Given the description of an element on the screen output the (x, y) to click on. 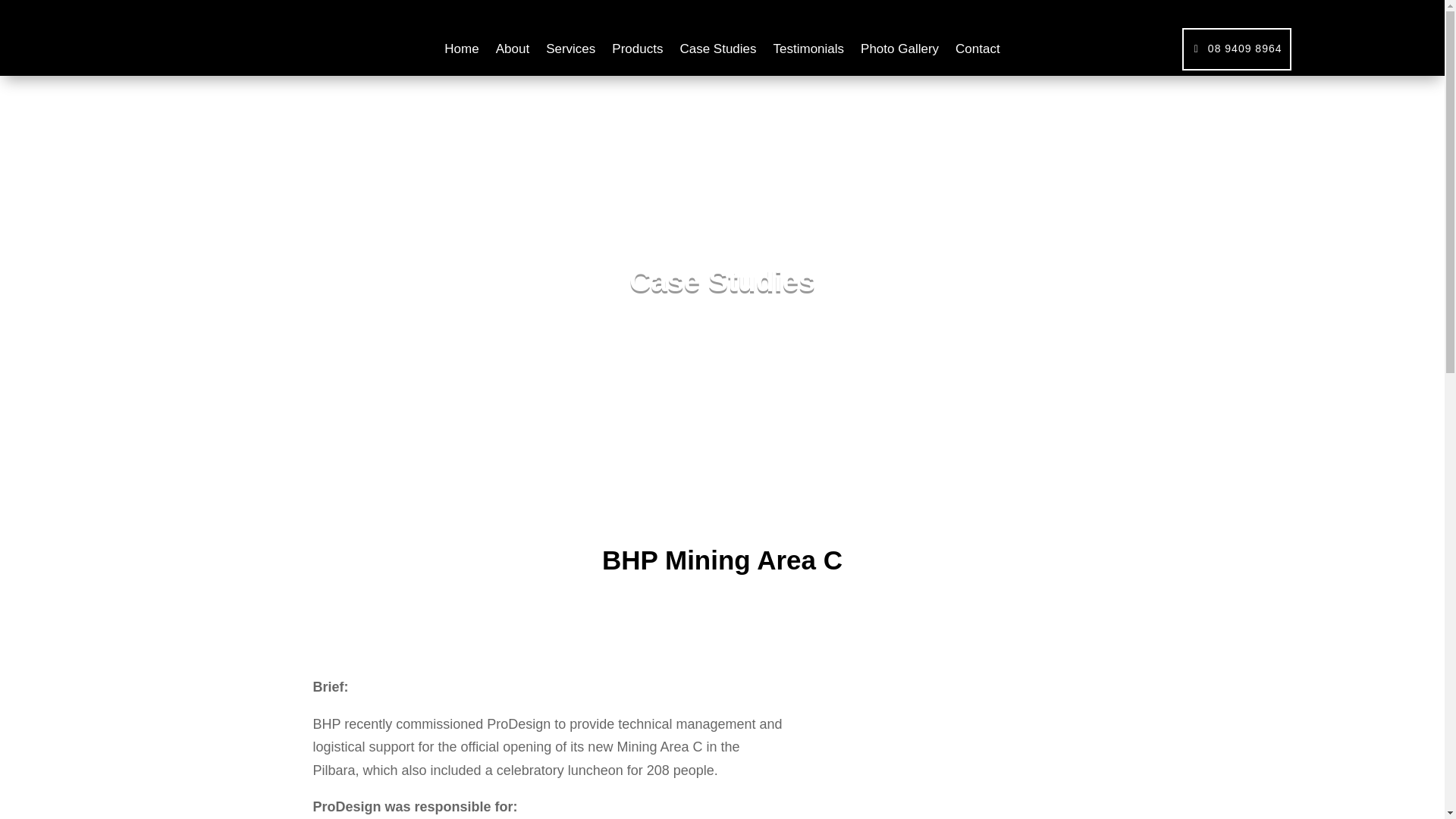
Home (461, 52)
About (512, 52)
Contact (977, 52)
Products (636, 52)
Testimonials (808, 52)
08 9409 8964 (1236, 48)
Case Studies (717, 52)
Photo Gallery (899, 52)
Services (570, 52)
